Given the description of an element on the screen output the (x, y) to click on. 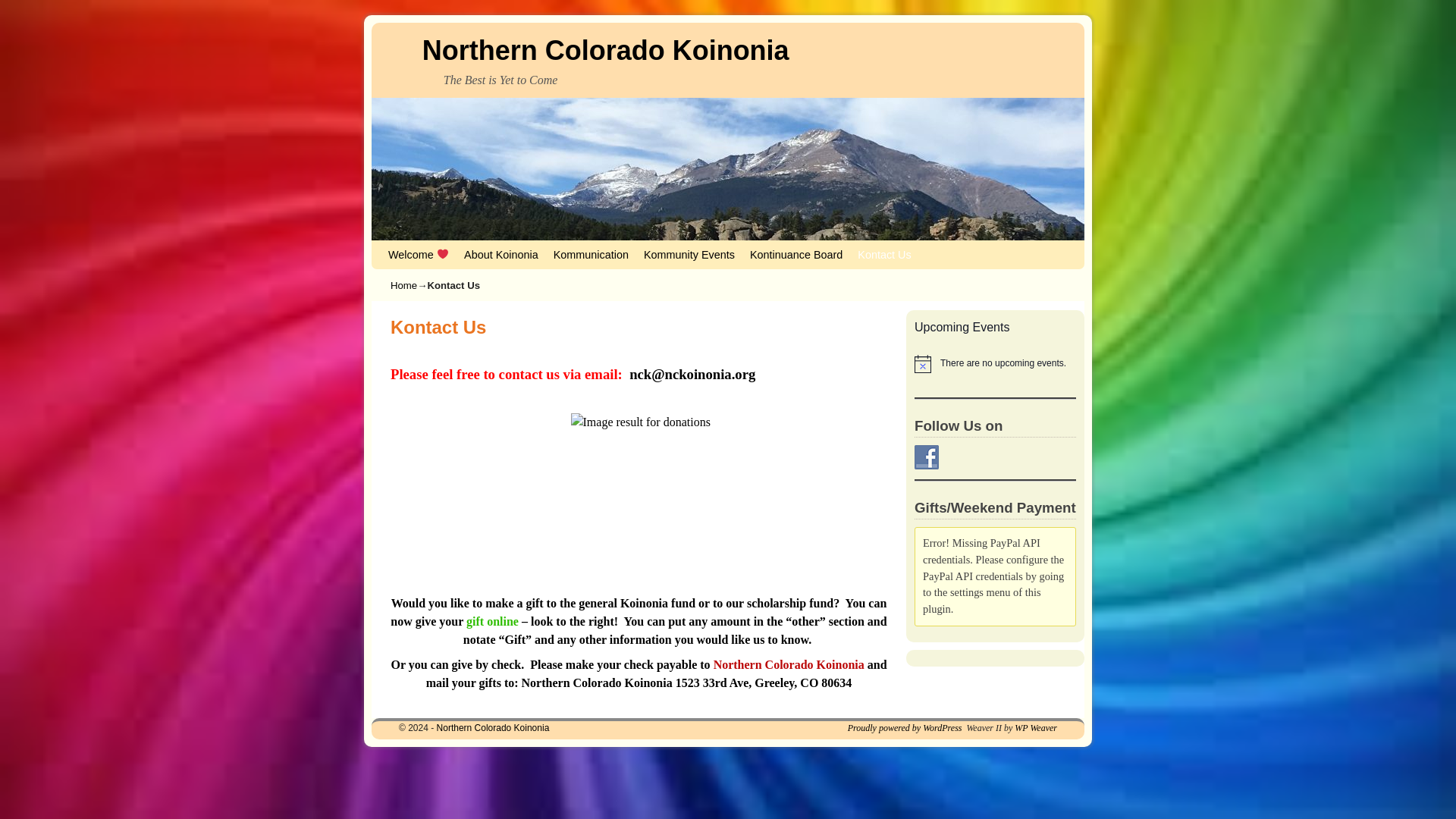
WP Weaver (1035, 727)
Skip to primary content (414, 246)
Proudly powered by WordPress (904, 727)
Kontinuance Board (796, 254)
Northern Colorado Koinonia (493, 727)
Northern Colorado Koinonia (493, 727)
About Koinonia (501, 254)
Kommunication (591, 254)
Northern Colorado Koinonia (605, 50)
Kontact Us (884, 254)
Kommunity Events (689, 254)
Home (403, 285)
Northern Colorado Koinonia (605, 50)
Welcome (418, 254)
Skip to secondary content (418, 246)
